Given the description of an element on the screen output the (x, y) to click on. 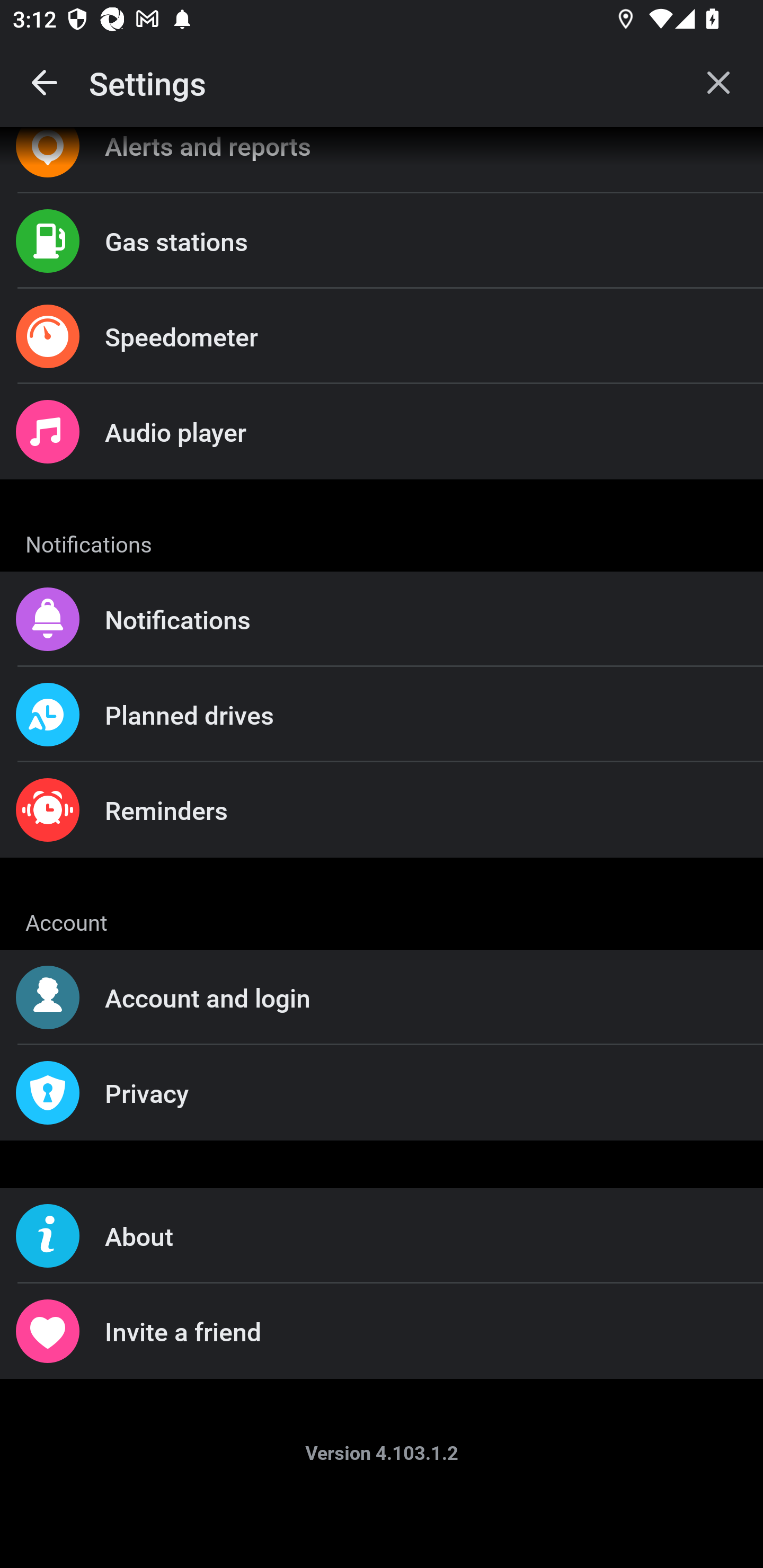
Alerts and reports (381, 159)
Gas stations (381, 240)
Speedometer (381, 336)
Audio player (381, 431)
ACTION_CELL_ICON Inbox ACTION_CELL_TEXT (381, 529)
Notifications (381, 619)
ACTION_CELL_ICON Shut off ACTION_CELL_TEXT (381, 891)
Account and login (381, 997)
Privacy (381, 1092)
About (381, 1236)
Invite a friend (381, 1331)
